Given the description of an element on the screen output the (x, y) to click on. 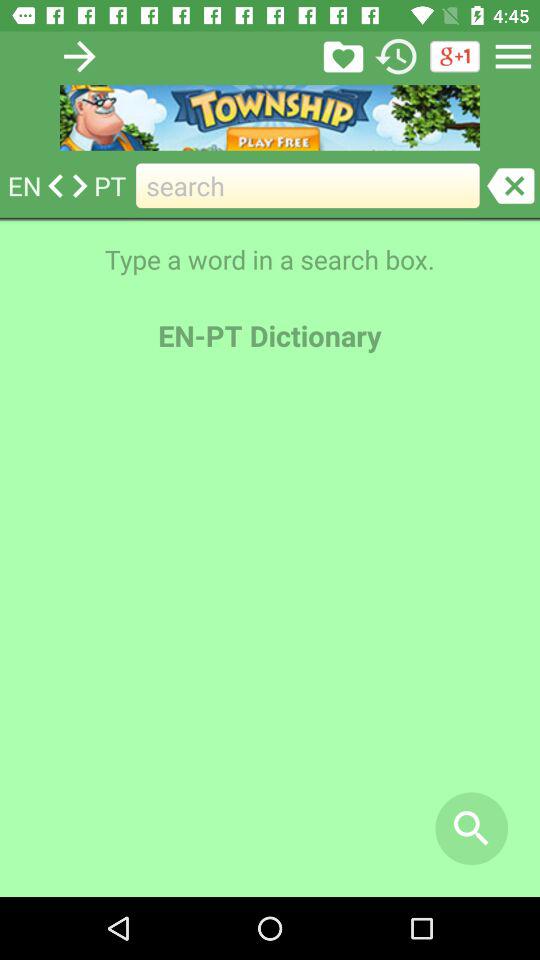
history (396, 56)
